Given the description of an element on the screen output the (x, y) to click on. 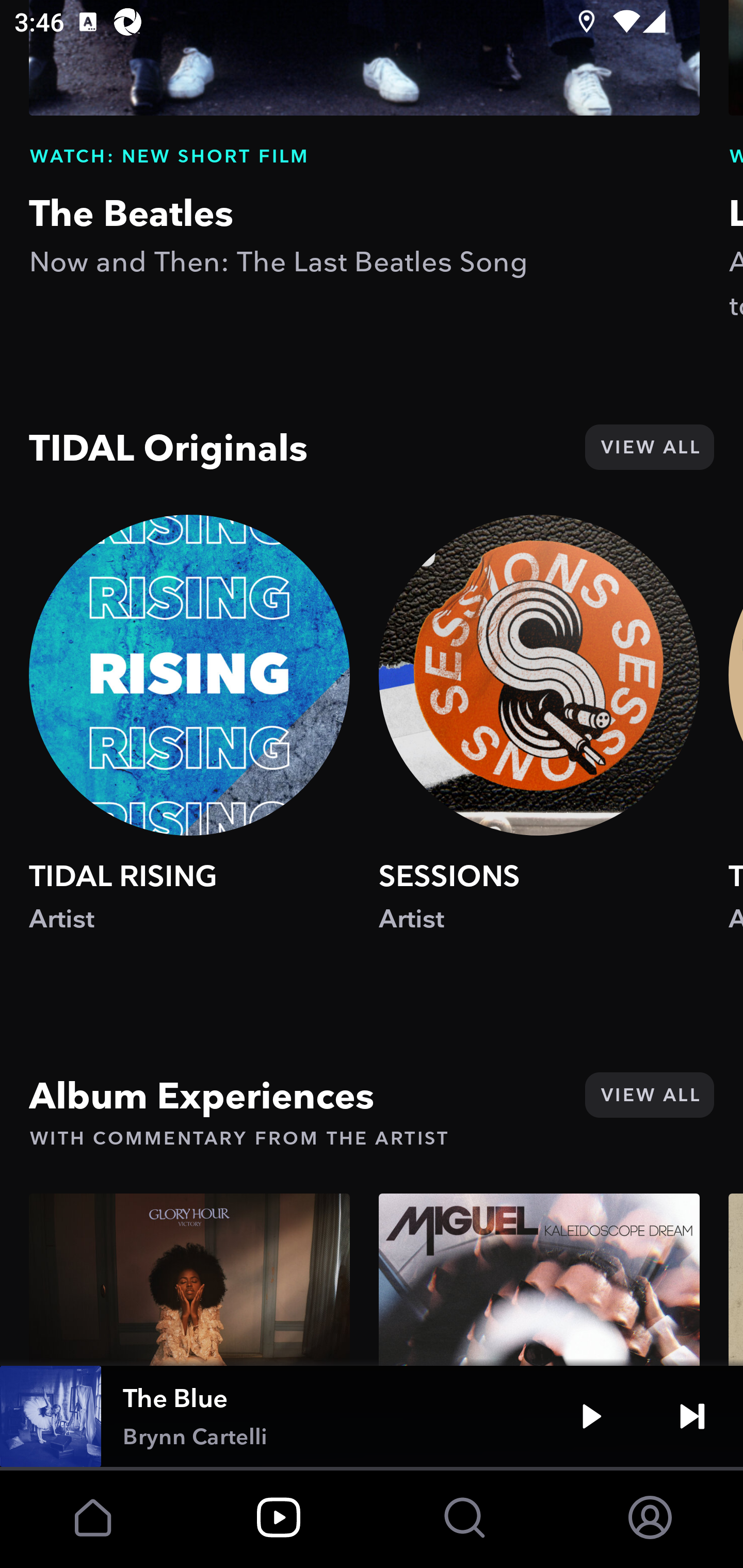
VIEW ALL (649, 447)
TIDAL RISING Artist (188, 742)
SESSIONS Artist (538, 742)
VIEW ALL (649, 1094)
The Blue Brynn Cartelli Play (371, 1416)
Play (590, 1416)
